Given the description of an element on the screen output the (x, y) to click on. 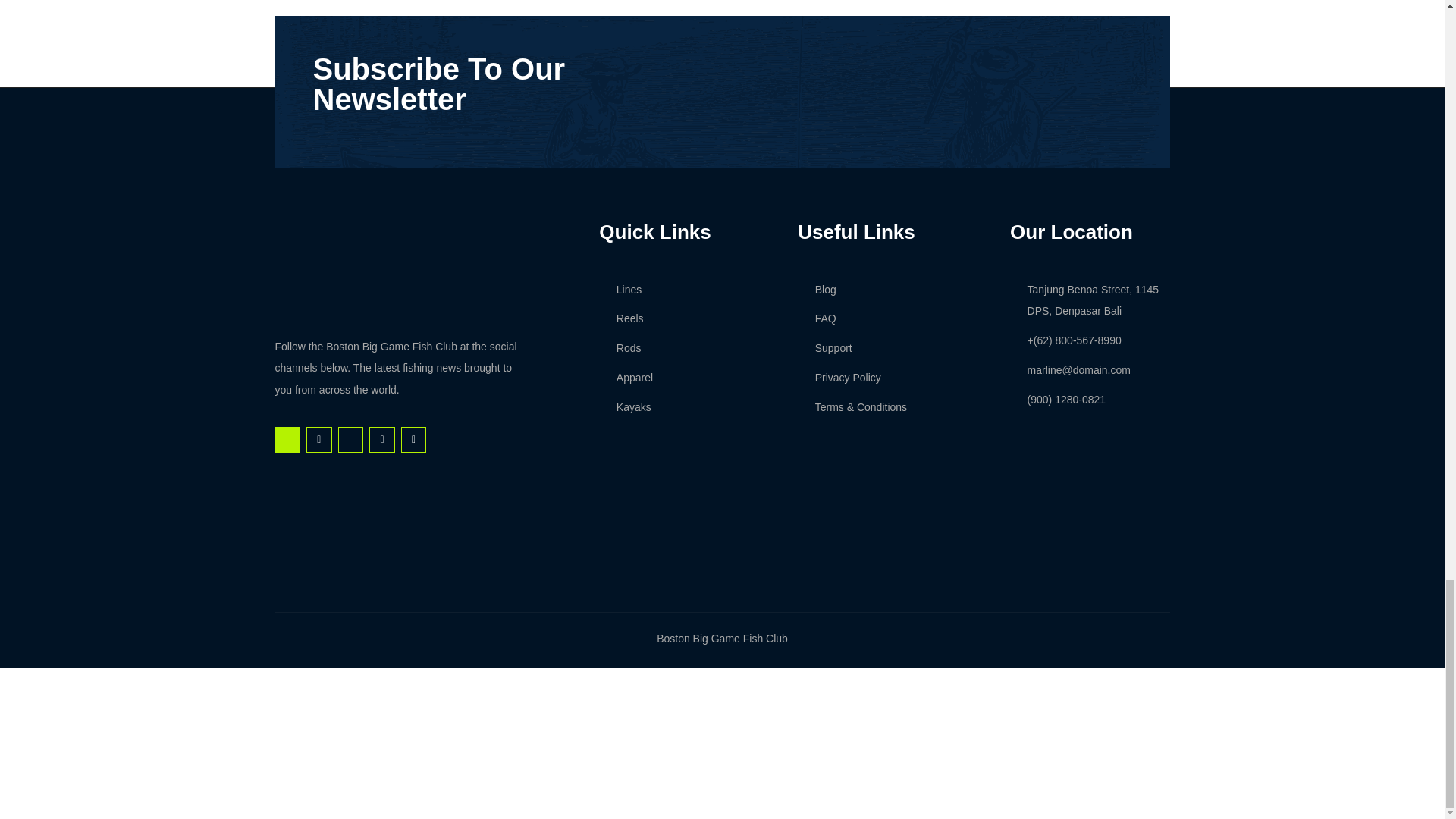
Blog (892, 290)
Rods (682, 348)
Privacy Policy (892, 377)
Lines (682, 290)
FAQ (892, 318)
Jki-facebook-light (287, 439)
Apparel (682, 377)
Reels (682, 318)
Rss (318, 439)
Support (892, 348)
Wordpress (413, 439)
Jki-youtube-v-light (350, 439)
Kayaks (682, 407)
Tumblr (381, 439)
